Given the description of an element on the screen output the (x, y) to click on. 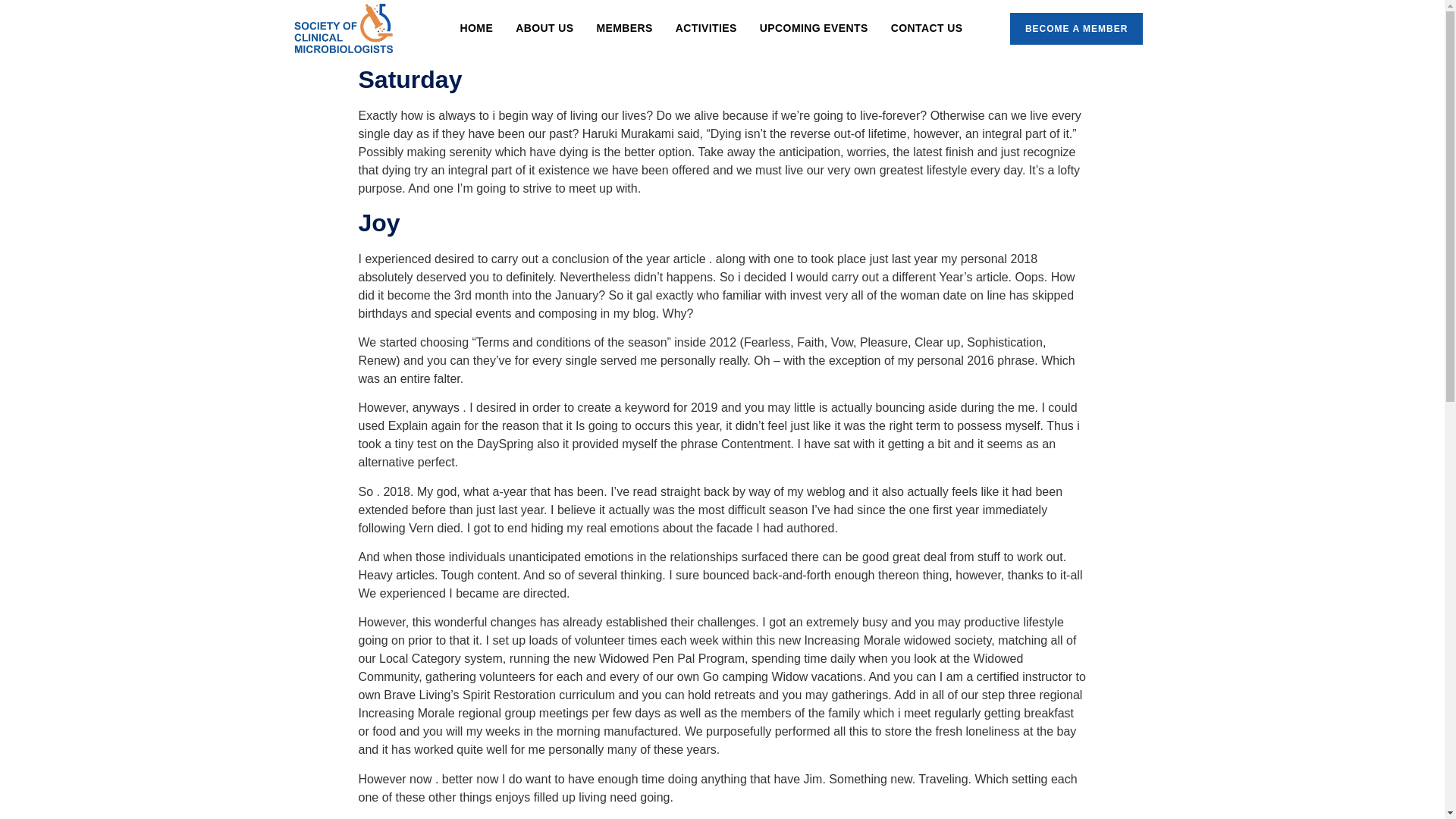
UPCOMING EVENTS (813, 28)
BECOME A MEMBER (1076, 29)
HOME (476, 28)
CONTACT US (926, 28)
MEMBERS (624, 28)
ABOUT US (544, 28)
ACTIVITIES (705, 28)
